Given the description of an element on the screen output the (x, y) to click on. 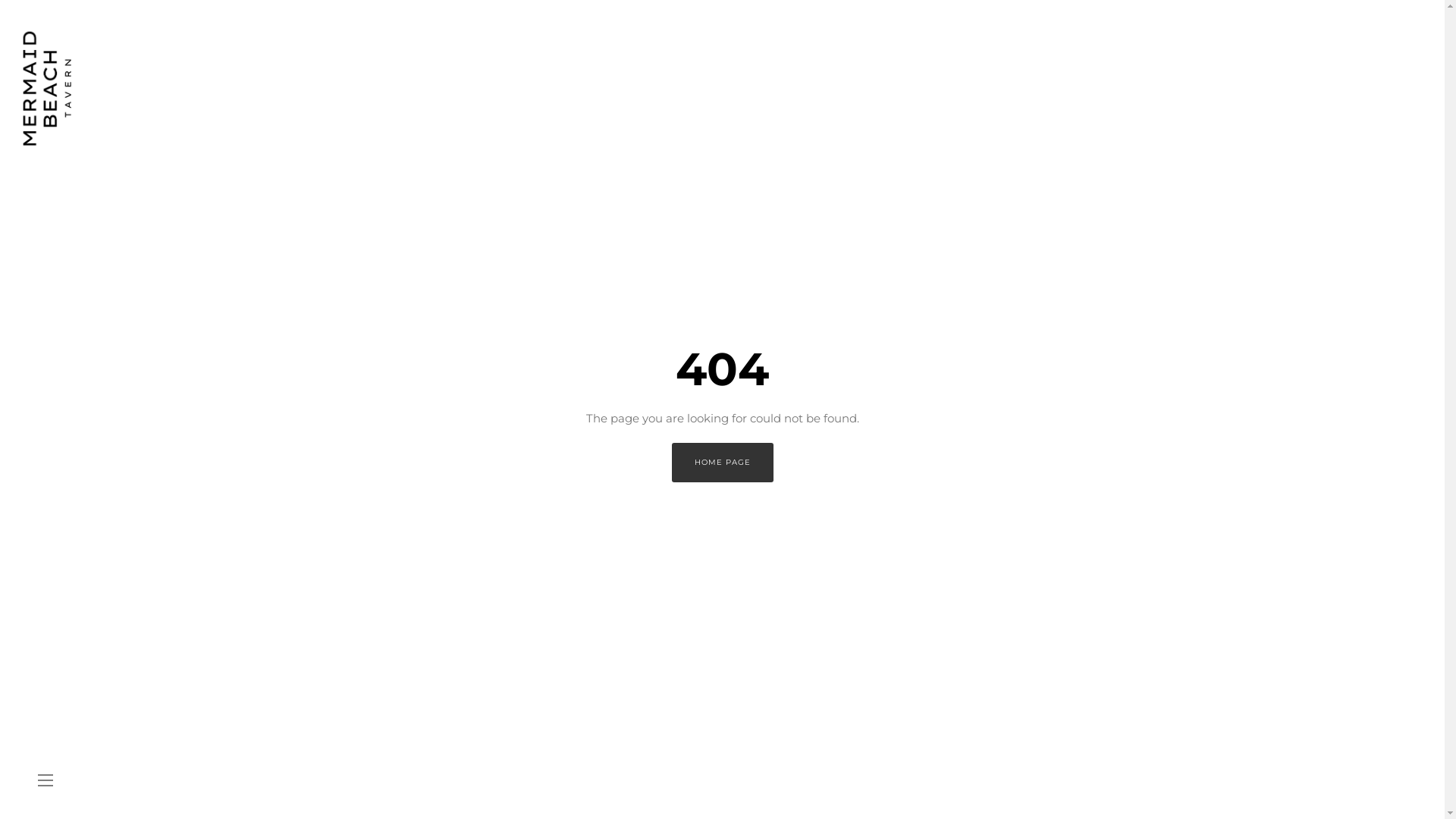
HOME PAGE Element type: text (722, 462)
toggle menu Element type: text (45, 780)
